Given the description of an element on the screen output the (x, y) to click on. 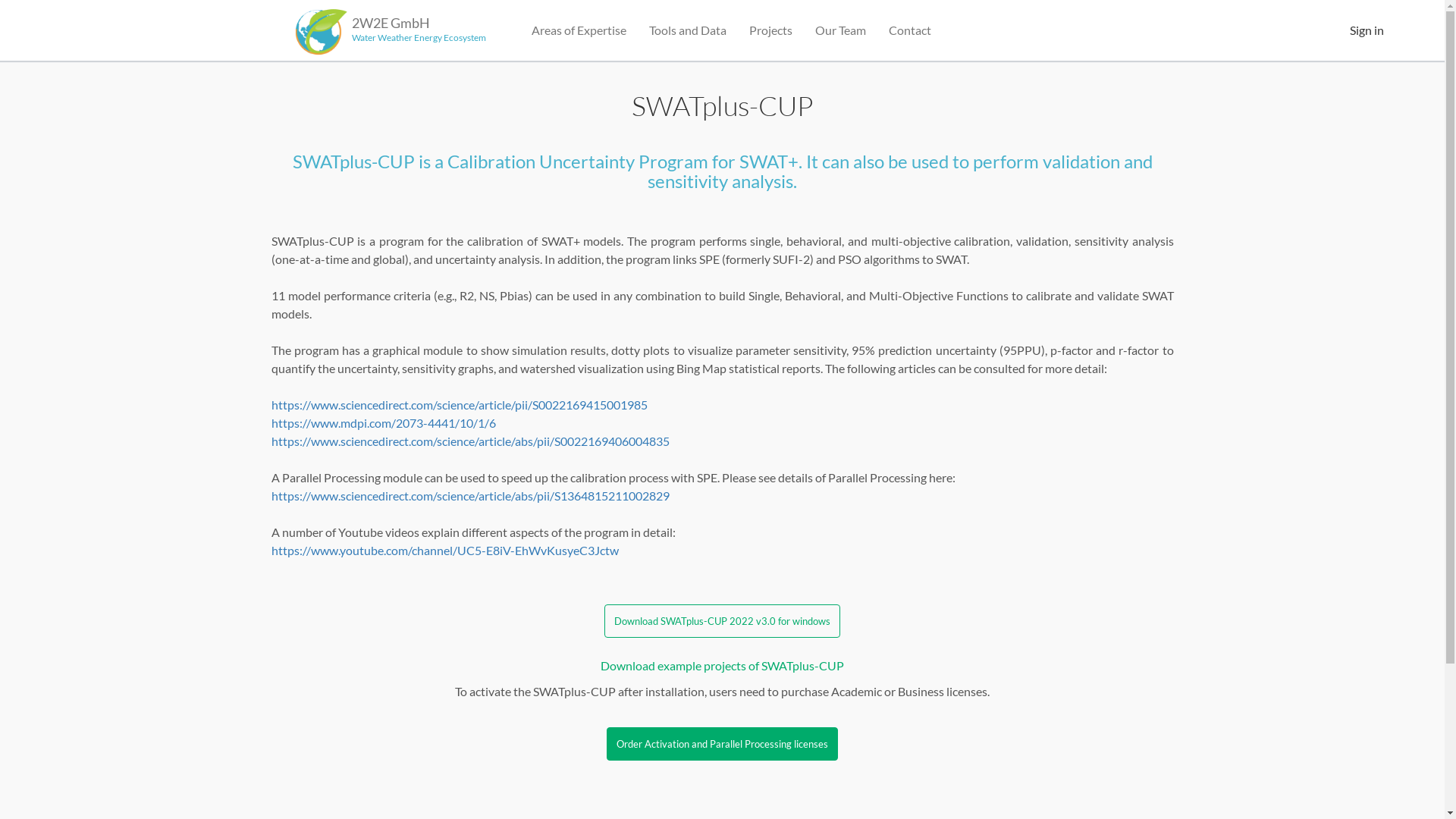
Areas of Expertise Element type: text (578, 30)
Contact Element type: text (909, 30)
Order Activation and Parallel Processing licenses Element type: text (721, 743)
Download SWATplus-CUP 2022 v3.0 for windows Element type: text (722, 620)
Sign in Element type: text (1366, 30)
Download example projects of SWATplus-CUP Element type: text (722, 665)
2W2E GmbH
Water Weather Energy Ecosystem Element type: text (388, 22)
https://www.youtube.com/channel/UC5-E8iV-EhWvKusyeC3Jctw Element type: text (444, 549)
Projects Element type: text (770, 30)
Our Team Element type: text (840, 30)
https://www.mdpi.com/2073-4441/10/1/6 Element type: text (383, 422)
Tools and Data Element type: text (687, 30)
